Given the description of an element on the screen output the (x, y) to click on. 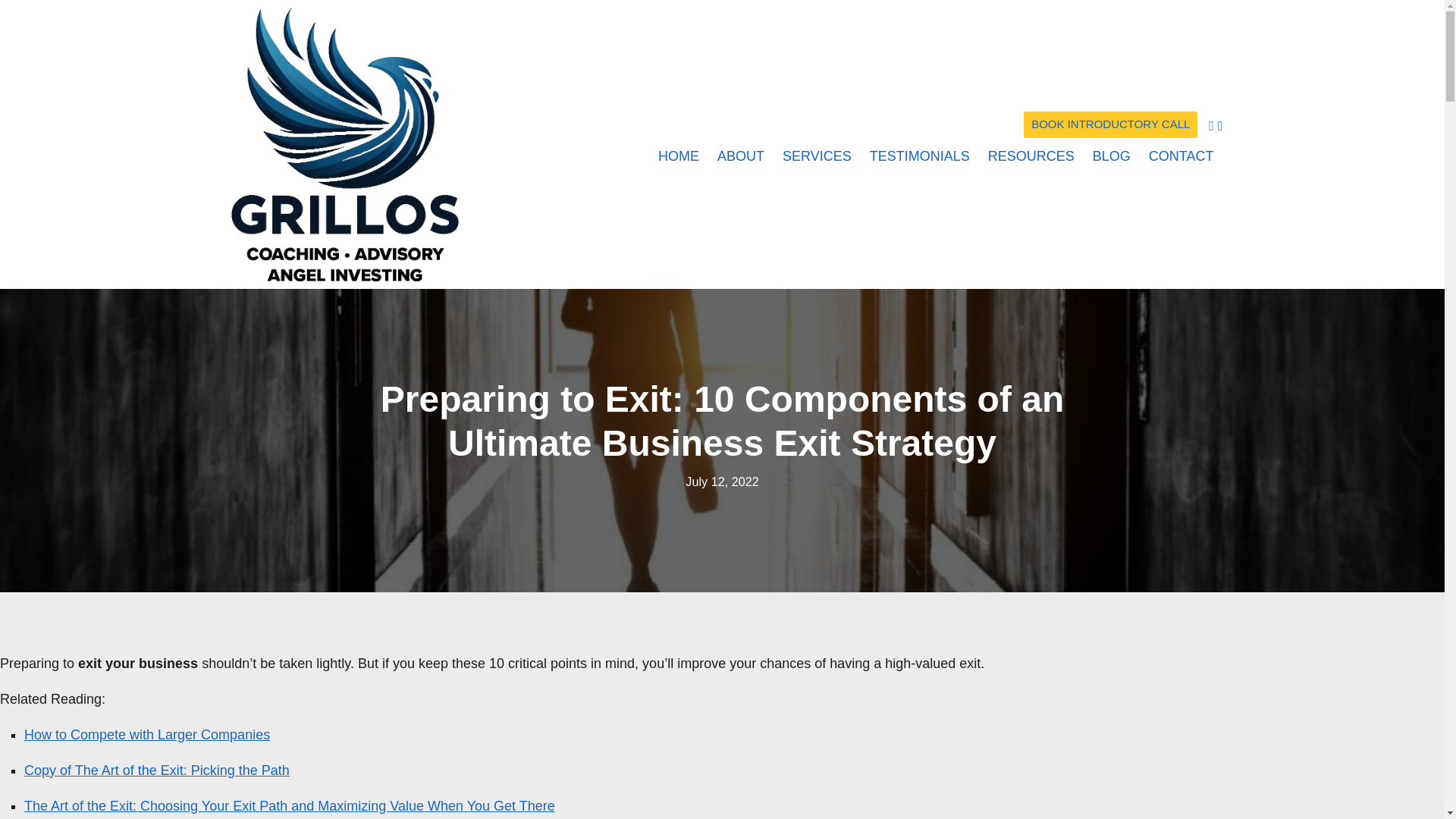
SERVICES (816, 154)
CONTACT (1177, 154)
HOME (678, 154)
RESOURCES (1030, 154)
ABOUT (740, 154)
BLOG (1111, 154)
Copy of The Art of the Exit: Picking the Path (156, 770)
How to Compete with Larger Companies (146, 734)
BOOK INTRODUCTORY CALL (1109, 124)
TESTIMONIALS (919, 154)
